Given the description of an element on the screen output the (x, y) to click on. 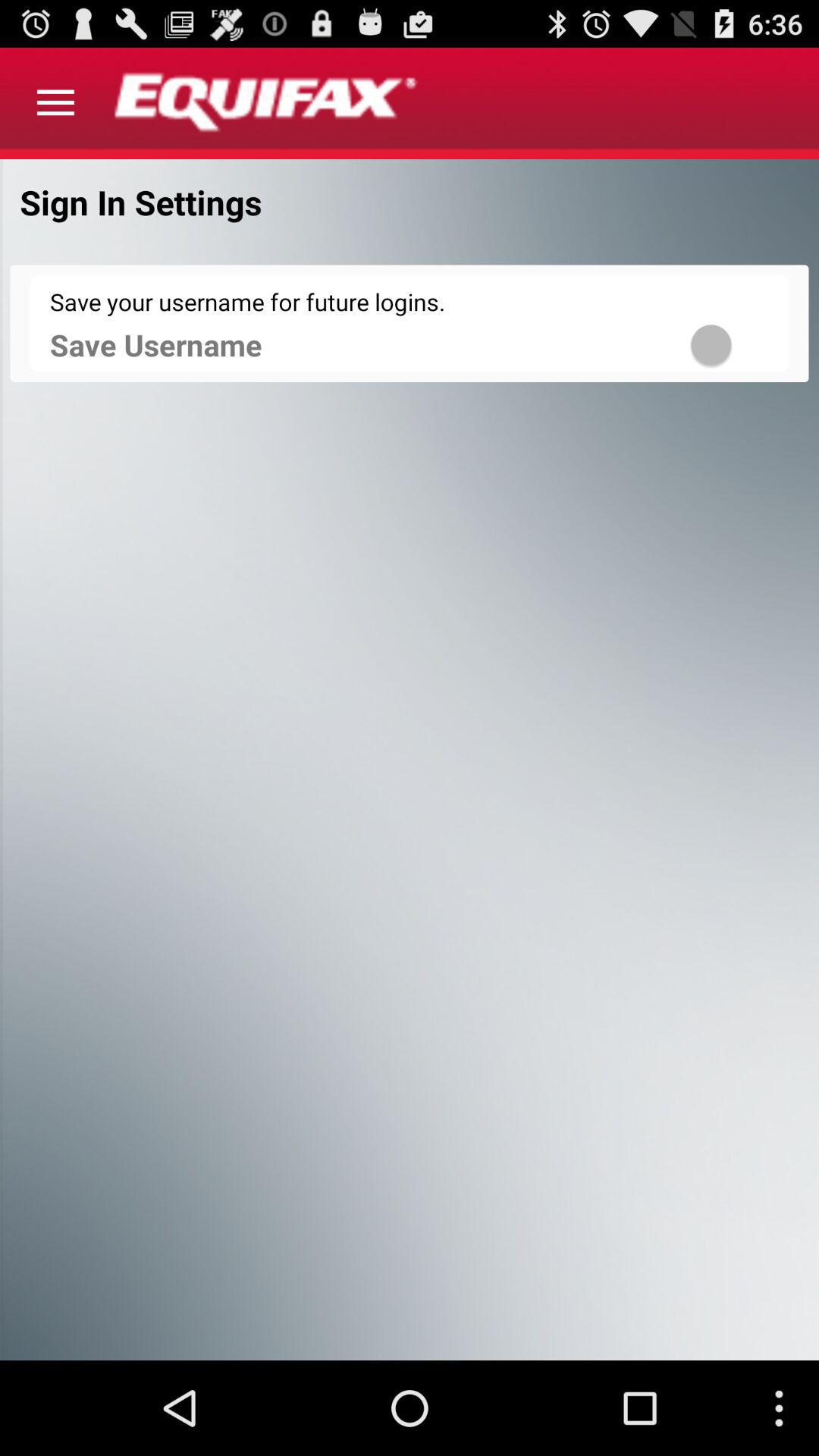
click item at the top right corner (731, 344)
